Given the description of an element on the screen output the (x, y) to click on. 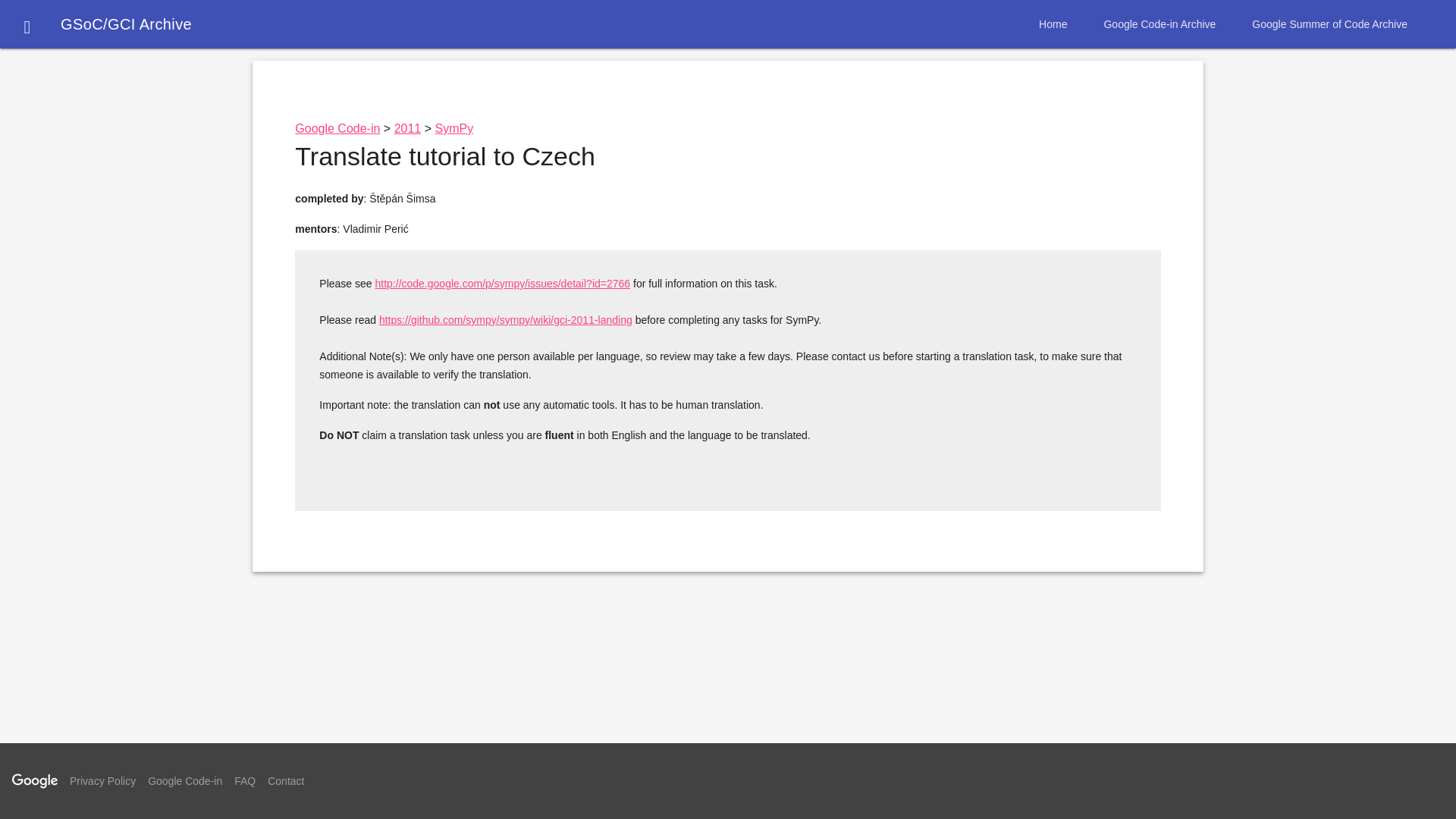
Google Code-in (337, 128)
Home (1052, 24)
Google Summer of Code Archive (1329, 24)
Contact (285, 780)
Privacy Policy (102, 780)
SymPy (454, 128)
Google Code-in Archive (1158, 24)
Google Code-in (185, 780)
2011 (408, 128)
FAQ (245, 780)
